Given the description of an element on the screen output the (x, y) to click on. 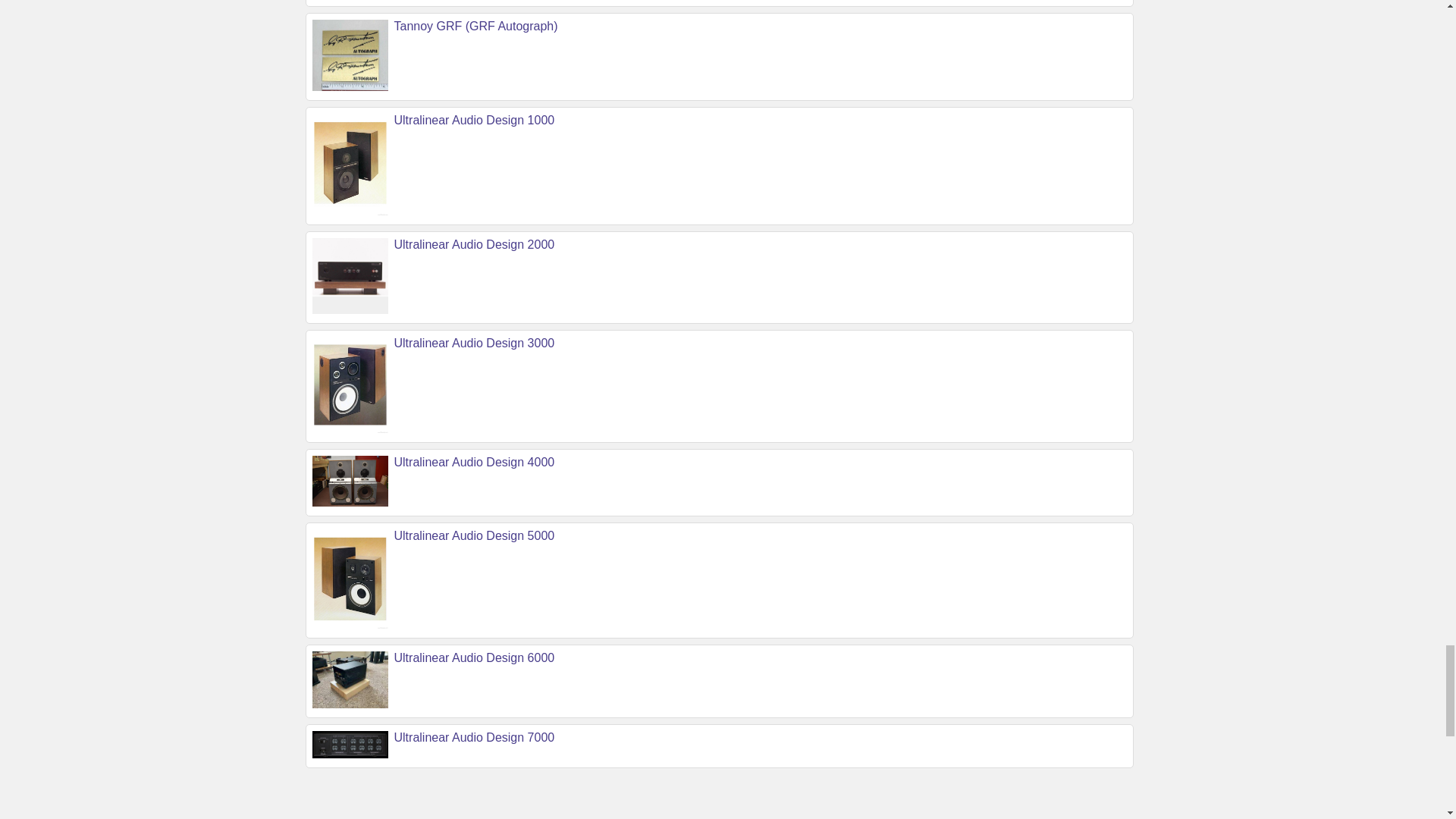
Ultralinear Audio Design 7000 (474, 737)
Ultralinear Audio Design 6000 (474, 657)
Ultralinear Audio Design 4000 (474, 461)
Ultralinear Audio Design 1000 (474, 119)
Ultralinear Audio Design 3000 (474, 342)
Ultralinear Audio Design 5000 (474, 535)
Ultralinear Audio Design 2000 (474, 244)
